Given the description of an element on the screen output the (x, y) to click on. 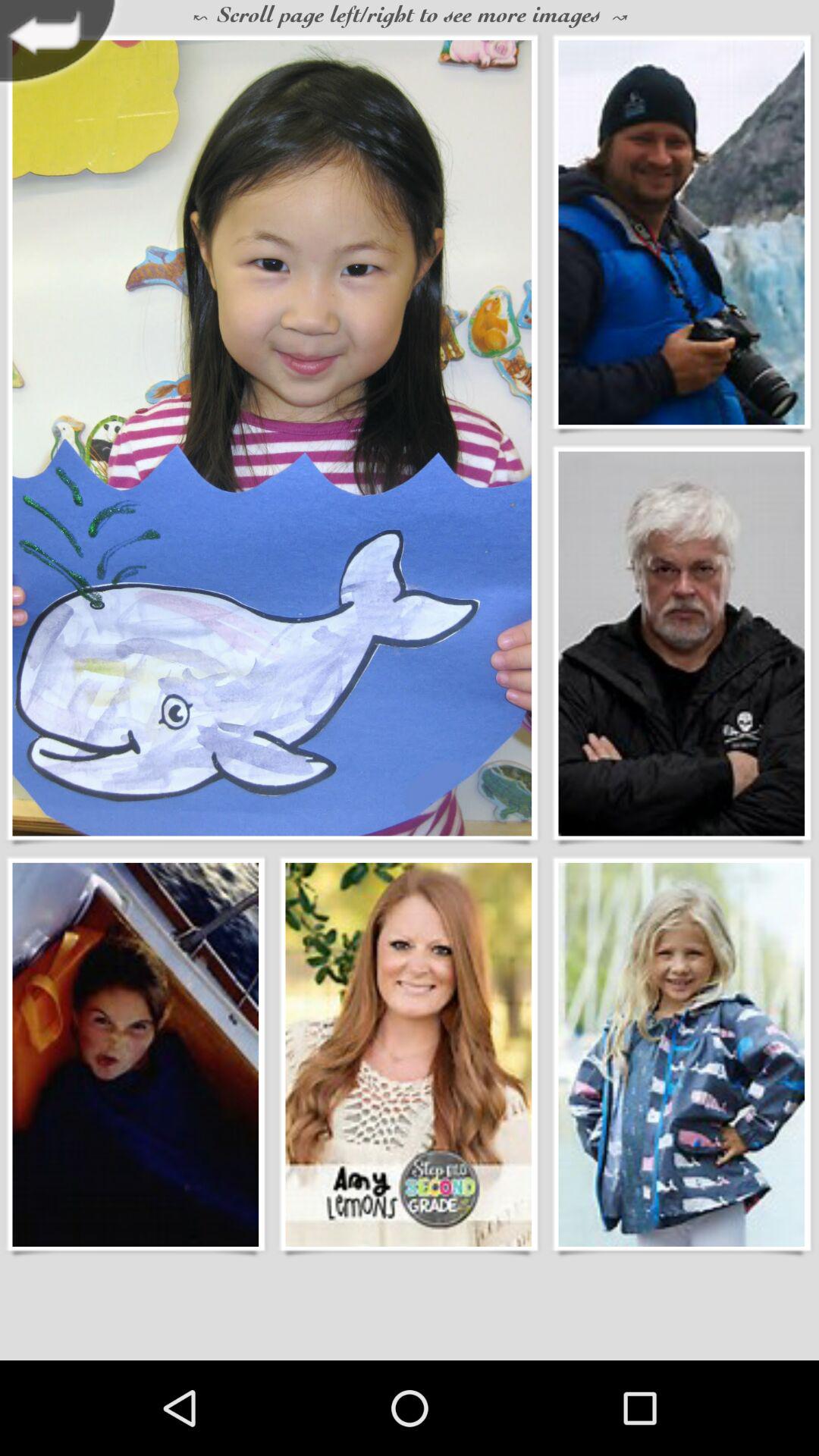
increase photo (135, 1054)
